Given the description of an element on the screen output the (x, y) to click on. 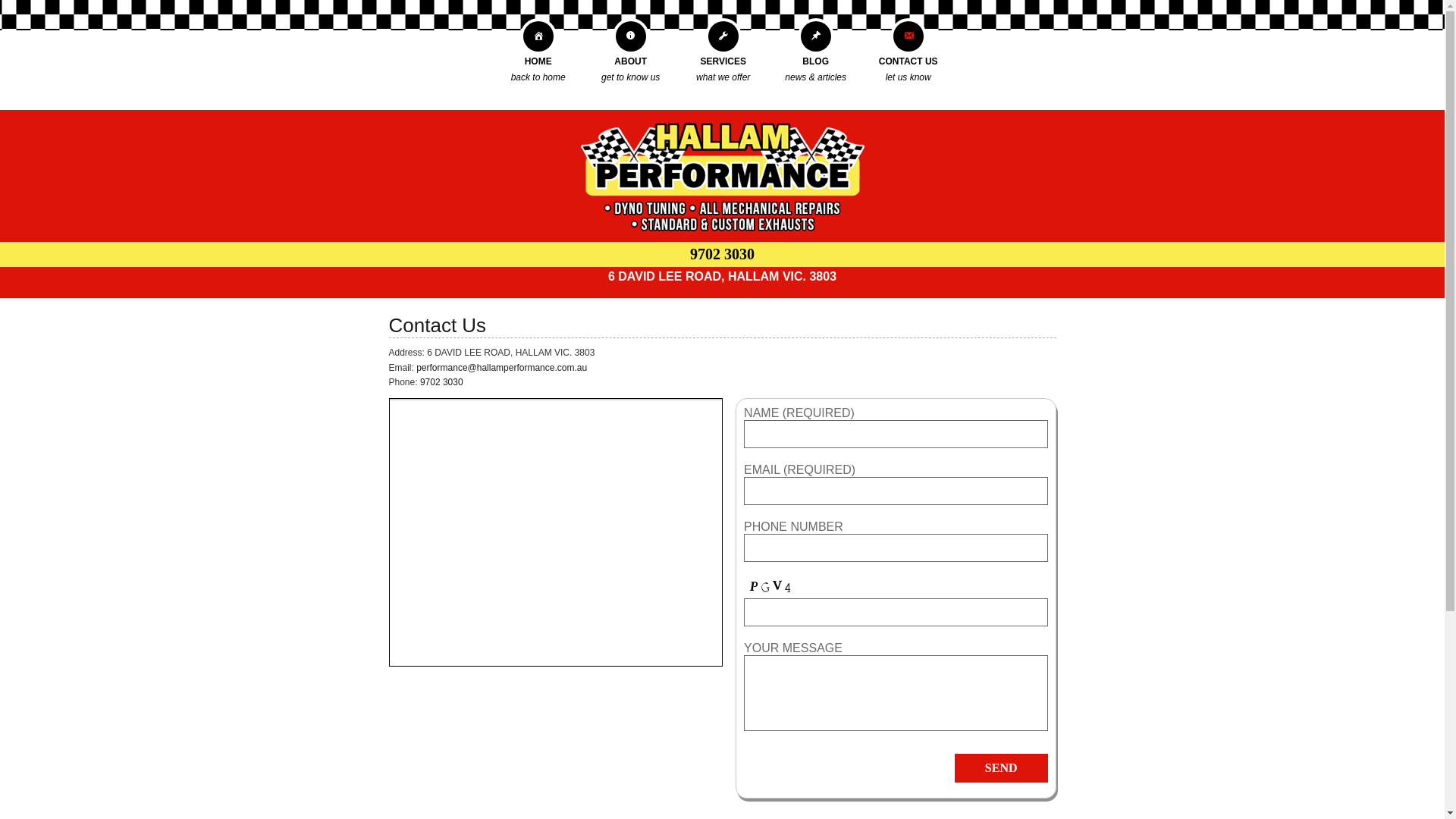
9702 3030 Element type: text (441, 381)
Send Element type: text (1001, 767)
performance@hallamperformance.com.au Element type: text (501, 367)
let us know
CONTACT US Element type: text (908, 60)
9702 3030 Element type: text (722, 253)
get to know us
ABOUT Element type: text (630, 60)
back to home
HOME Element type: text (538, 60)
what we offer
SERVICES Element type: text (723, 60)
news & articles
BLOG Element type: text (815, 60)
